Given the description of an element on the screen output the (x, y) to click on. 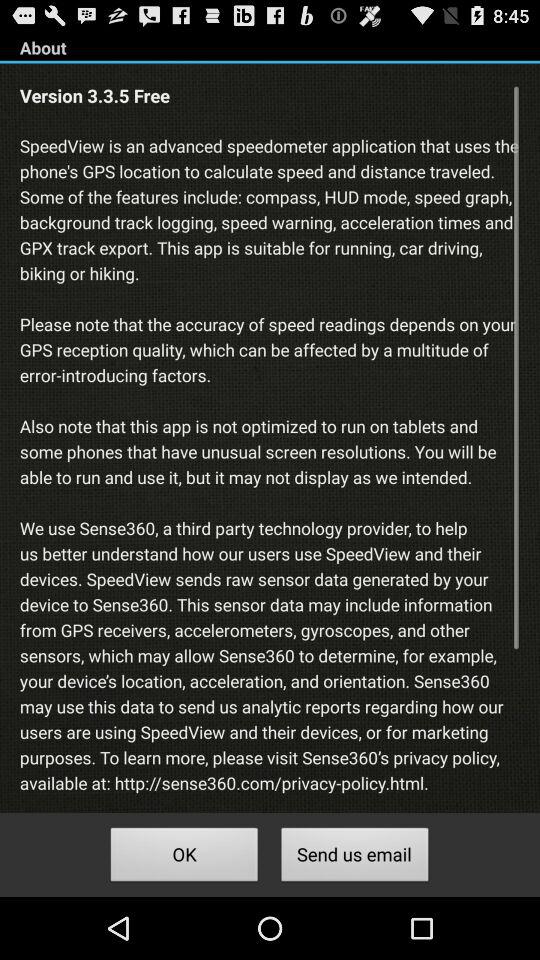
select the icon below the speedview is an item (354, 857)
